Given the description of an element on the screen output the (x, y) to click on. 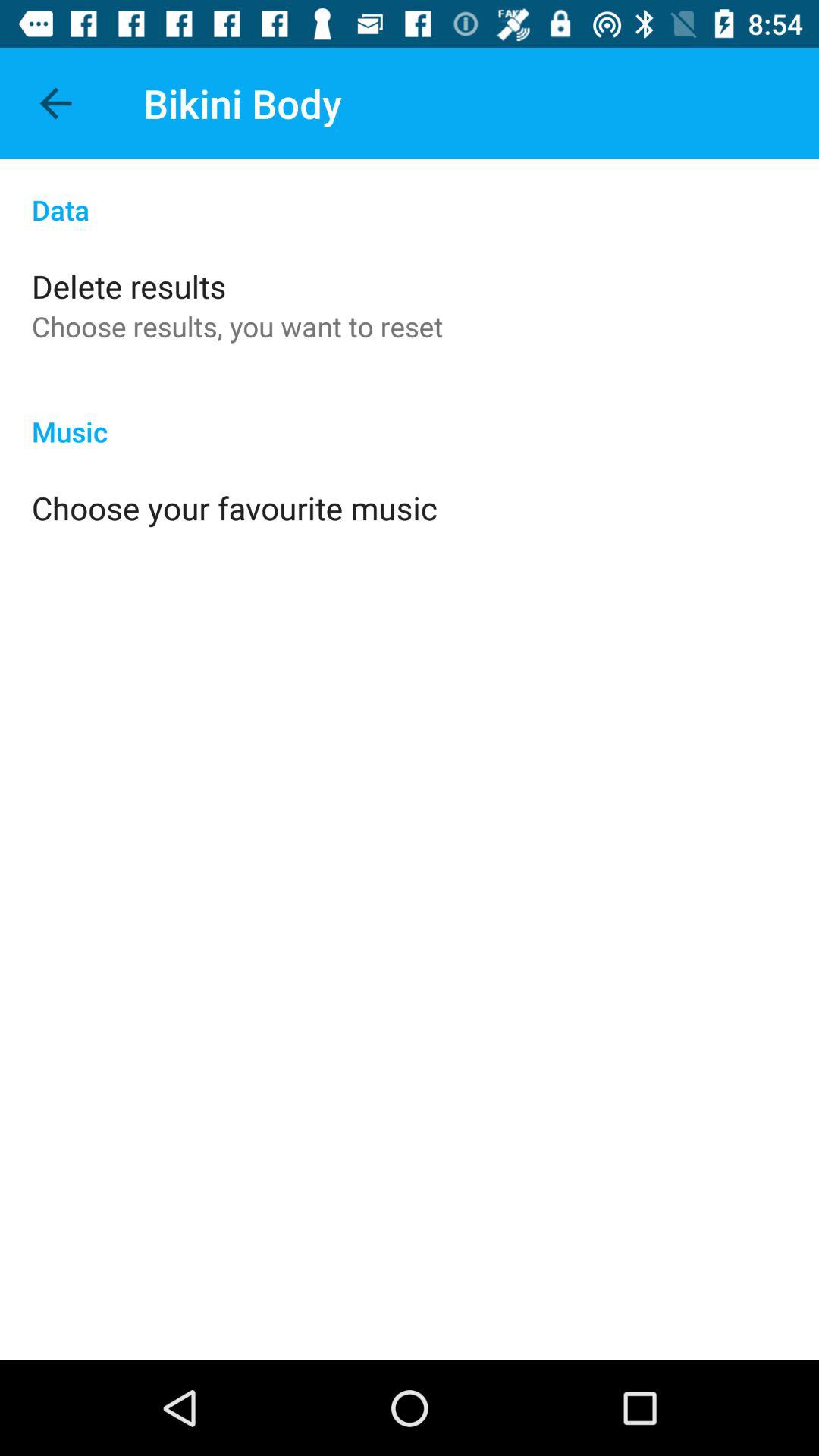
turn off icon above the music (237, 326)
